Given the description of an element on the screen output the (x, y) to click on. 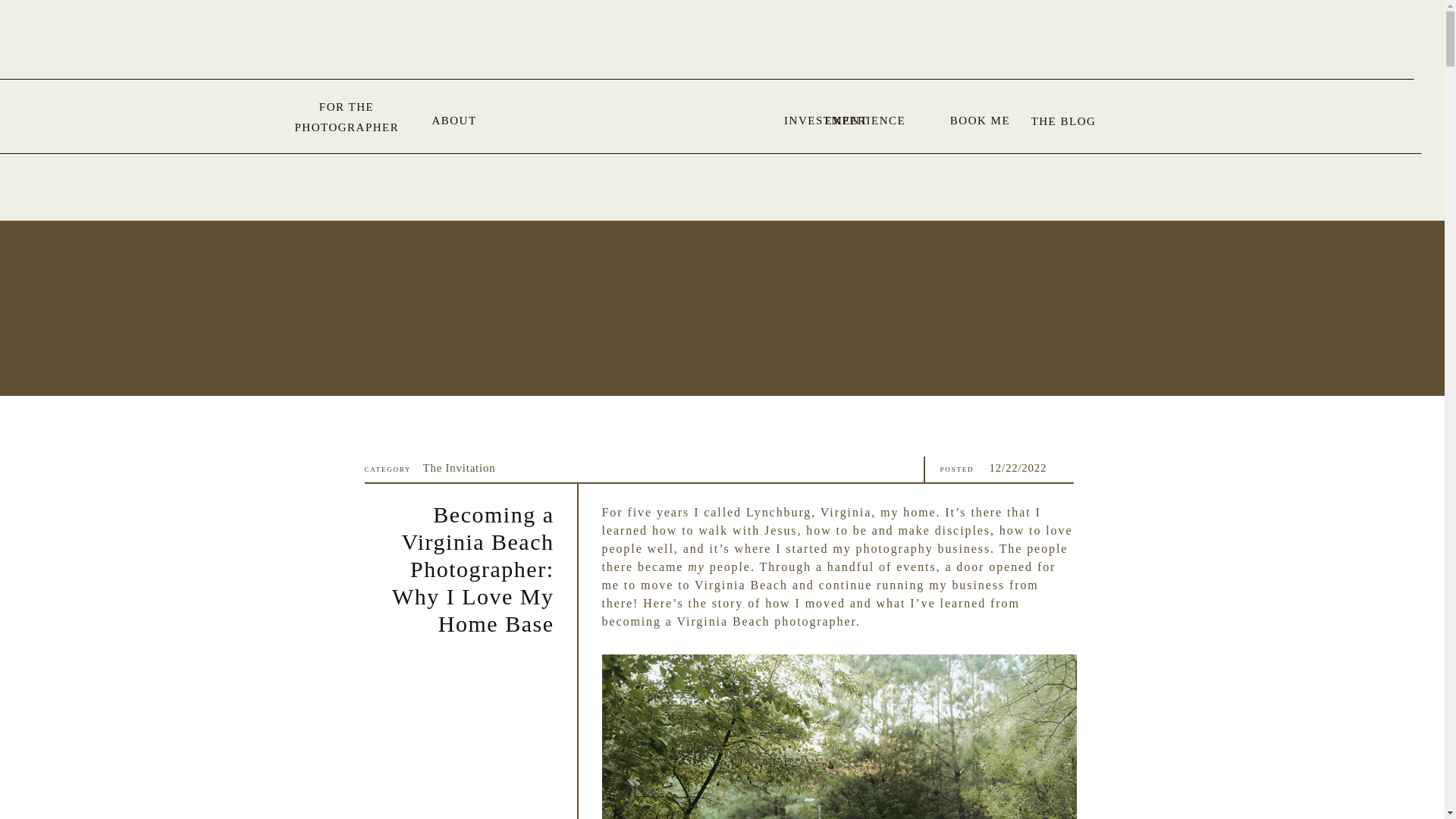
THE BLOG (1062, 128)
The Invitation (459, 467)
BOOK ME (979, 117)
FOR THE PHOTOGRAPHER (345, 118)
INVESTMENT (825, 117)
EXPERIENCE (864, 117)
ABOUT (454, 117)
